Given the description of an element on the screen output the (x, y) to click on. 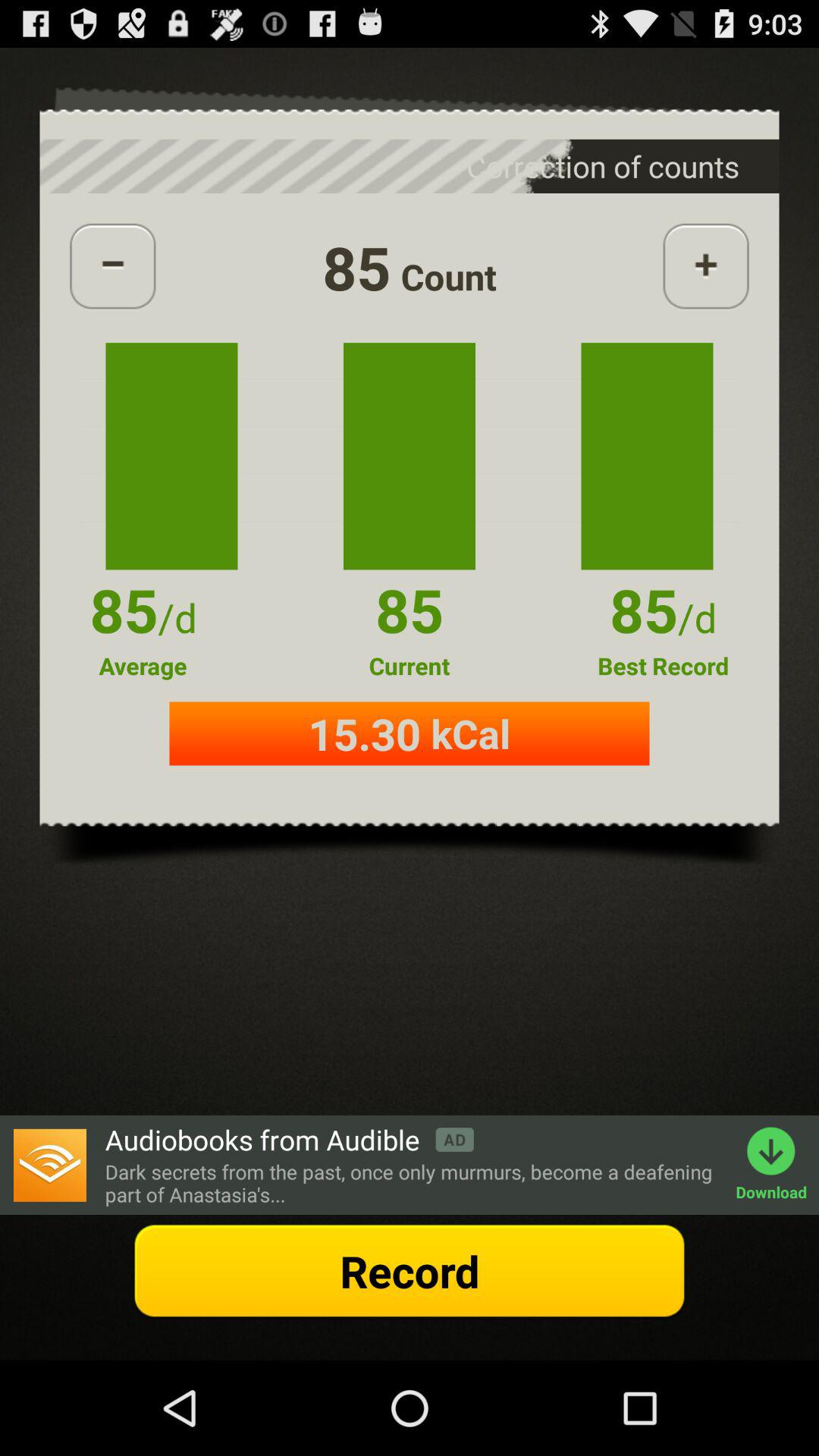
click the download button on the bottom right (777, 1164)
select the text which is above the add button (639, 166)
